Given the description of an element on the screen output the (x, y) to click on. 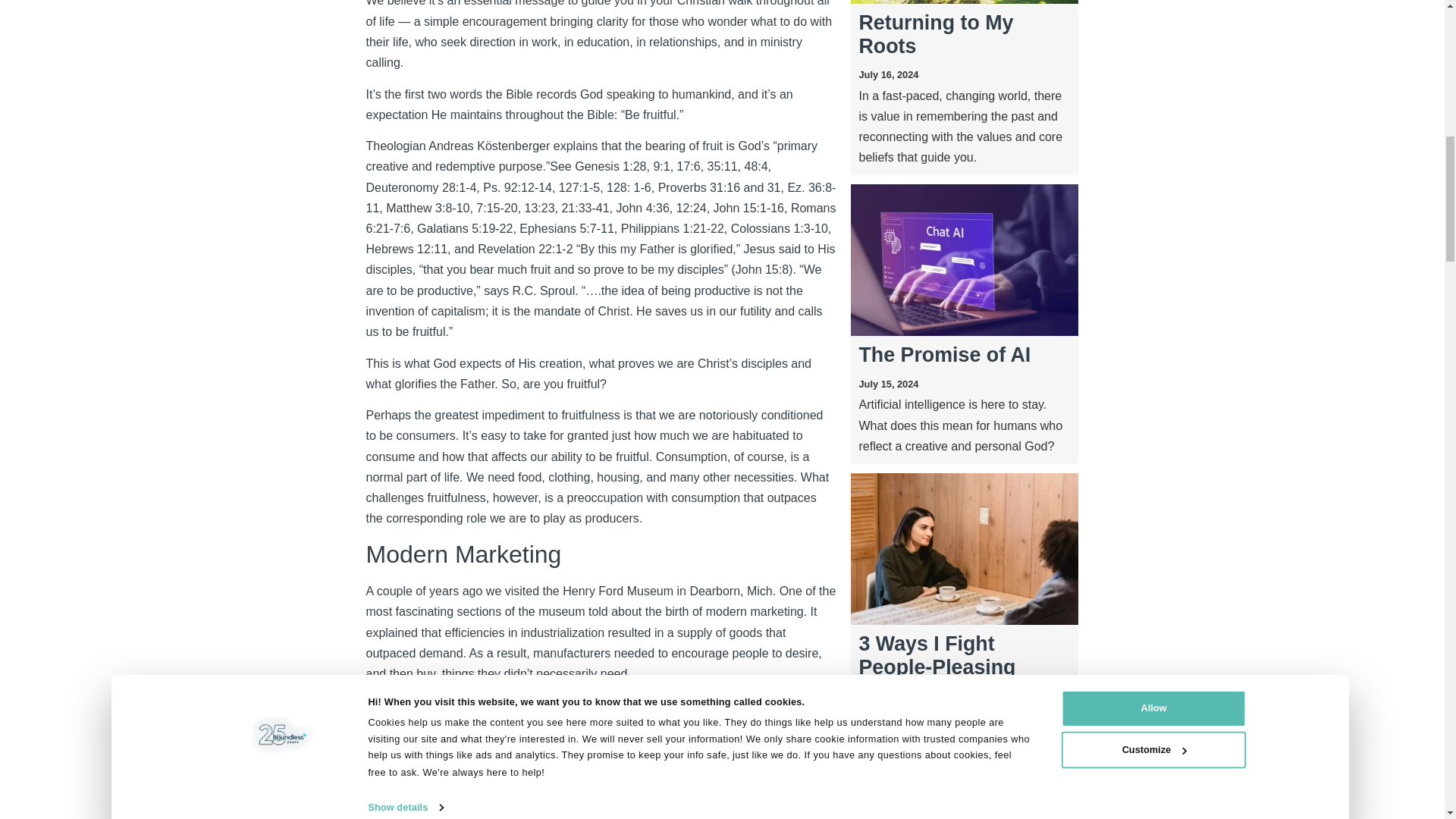
Show details (412, 0)
